Given the description of an element on the screen output the (x, y) to click on. 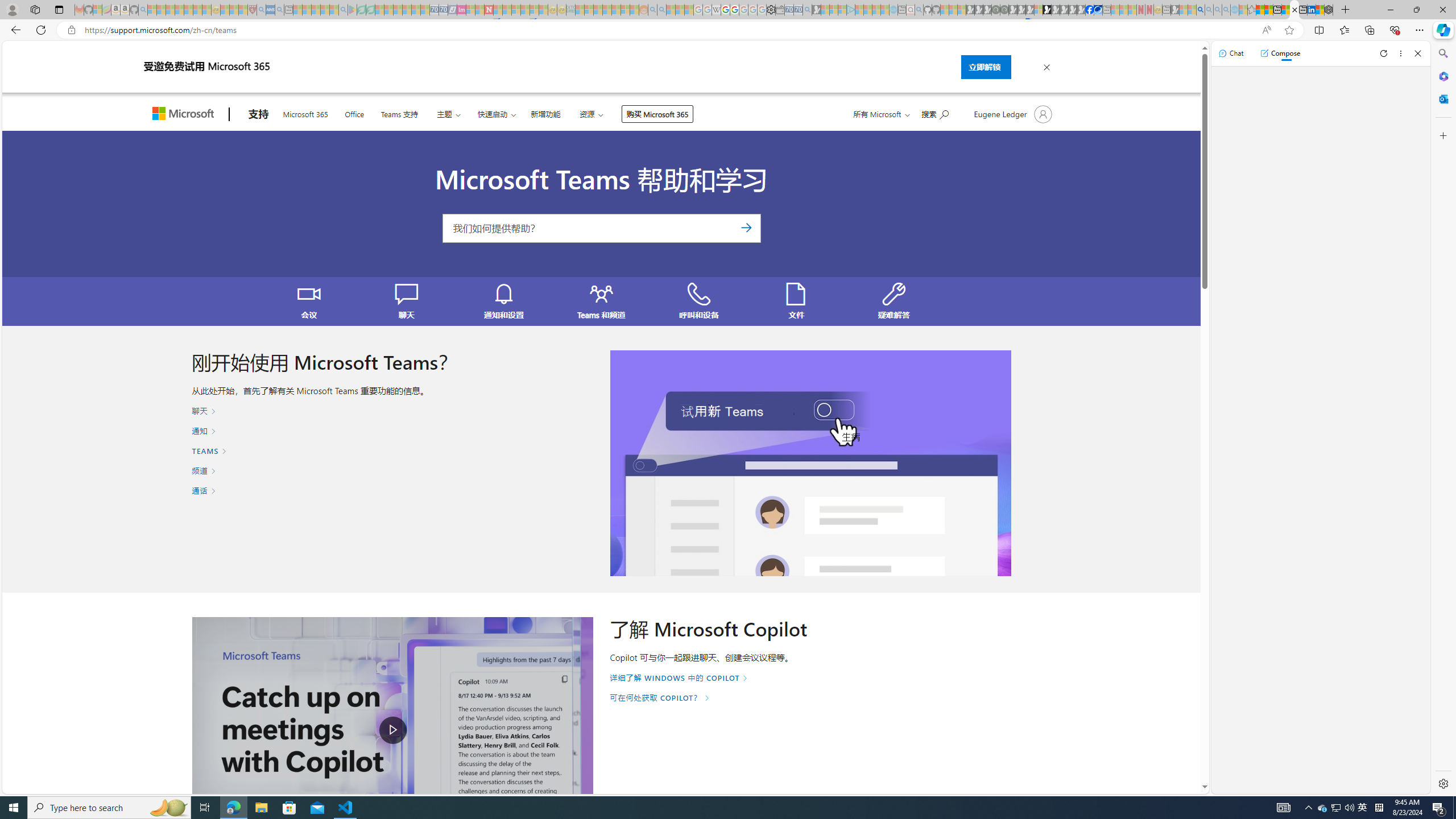
Future Focus Report 2024 - Sleeping (1004, 9)
Sign in to your account - Sleeping (1038, 9)
Office (354, 112)
